Given the description of an element on the screen output the (x, y) to click on. 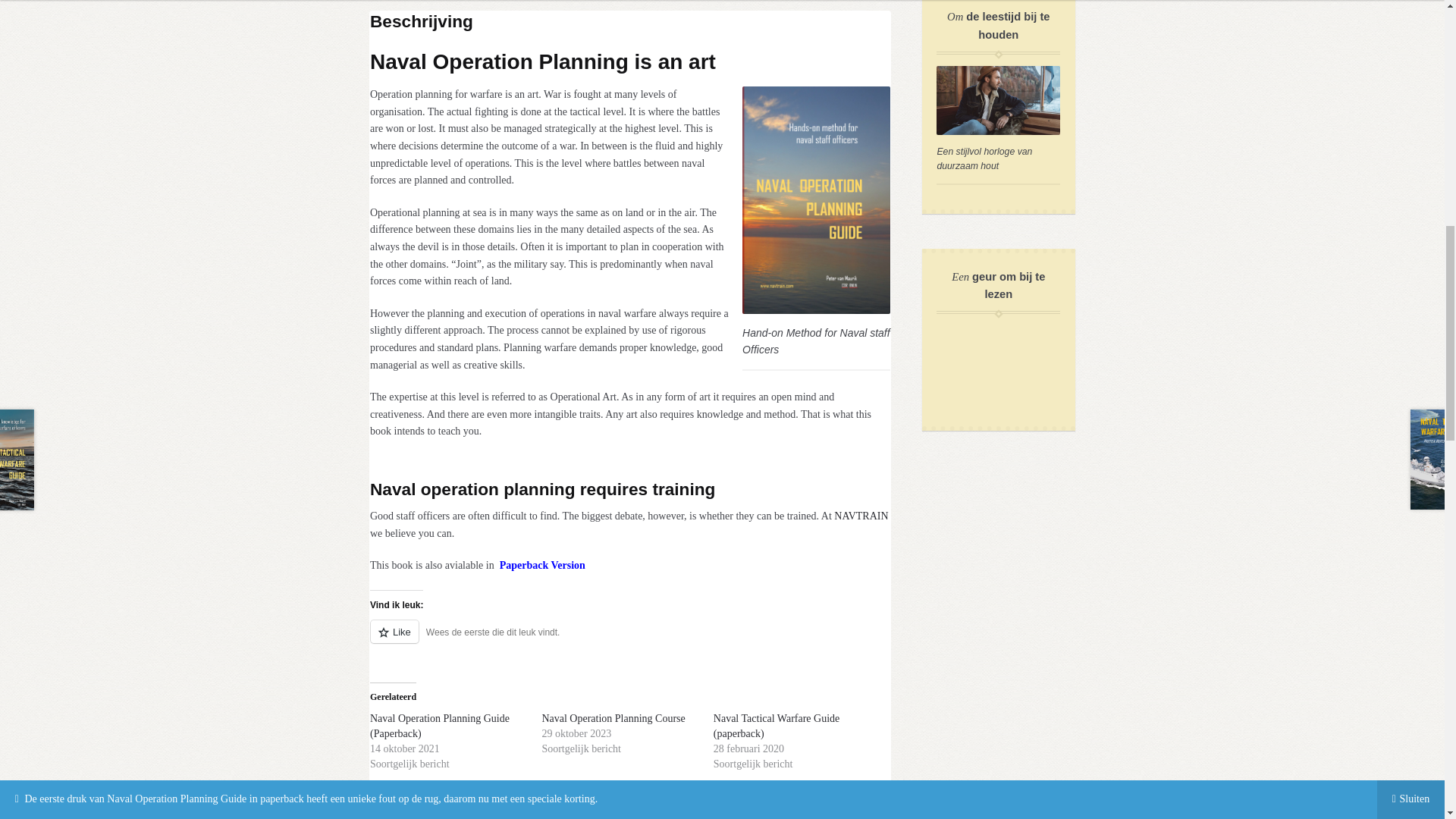
Naval Operation Planning Course (612, 717)
Vind-ik-leuk of reblog (629, 639)
